Given the description of an element on the screen output the (x, y) to click on. 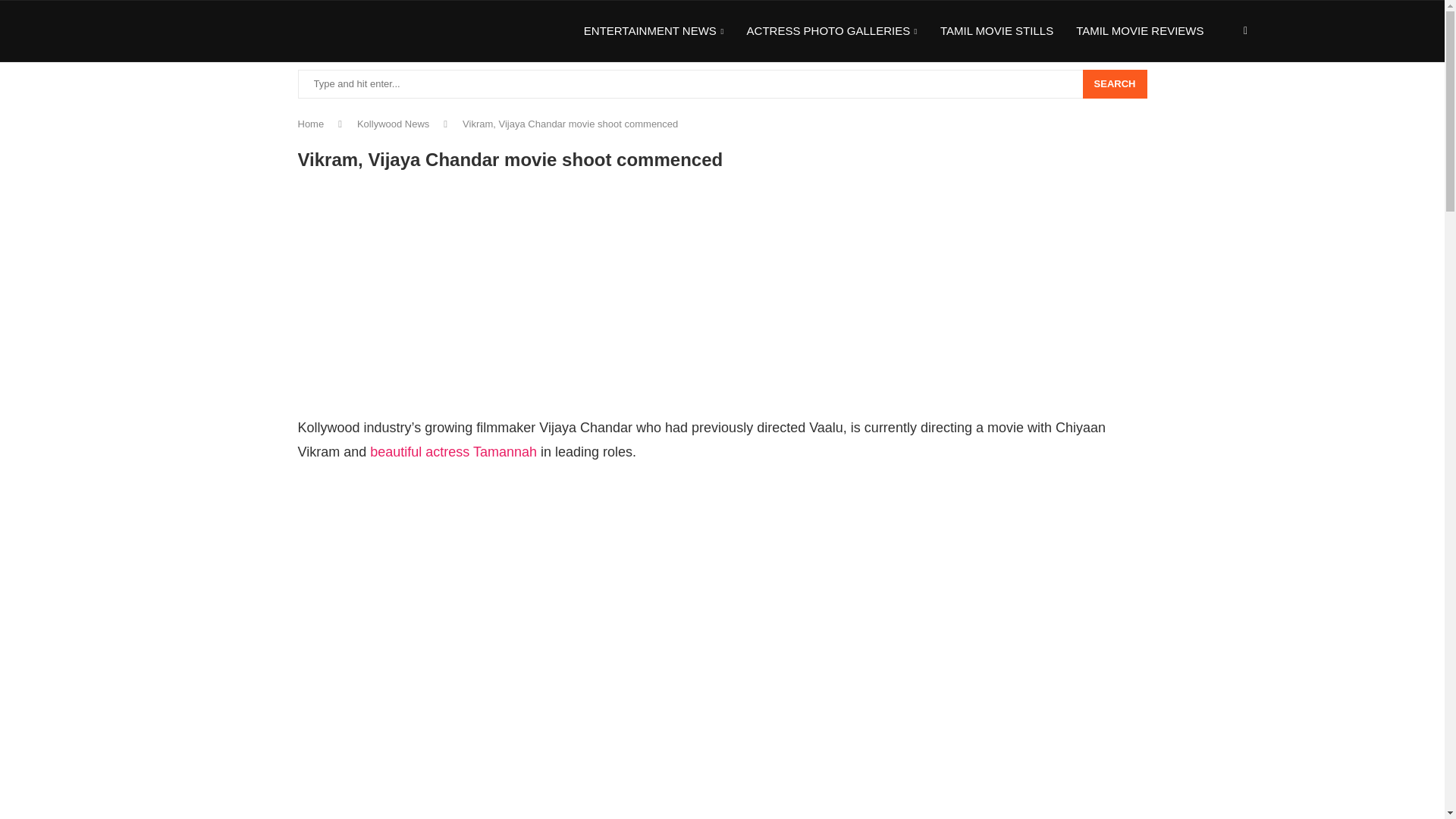
TAMIL MOVIE REVIEWS (1139, 30)
beautiful actress Tamannah (453, 451)
Home (310, 123)
ACTRESS PHOTO GALLERIES (831, 31)
Kollywood News (392, 123)
SEARCH (1115, 83)
ENTERTAINMENT NEWS (653, 31)
TAMIL MOVIE STILLS (996, 30)
